Given the description of an element on the screen output the (x, y) to click on. 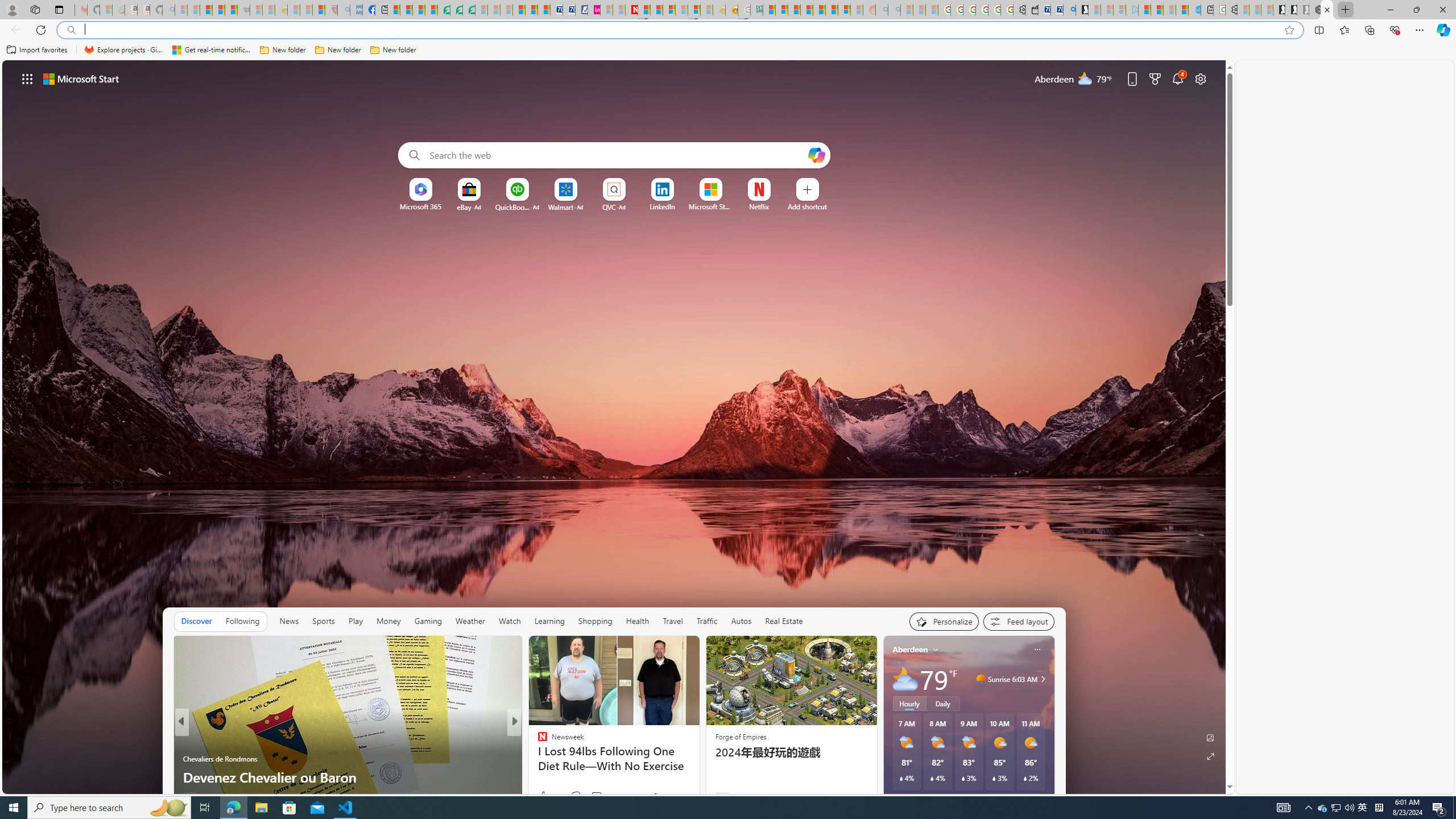
Following (242, 621)
Play (355, 621)
Shopping (594, 621)
Weather (470, 621)
See full forecast (1013, 799)
Robert H. Shmerling, MD - Harvard Health - Sleeping (331, 9)
Bing Real Estate - Home sales and rental listings (1069, 9)
Personalize your feed" (943, 621)
